Given the description of an element on the screen output the (x, y) to click on. 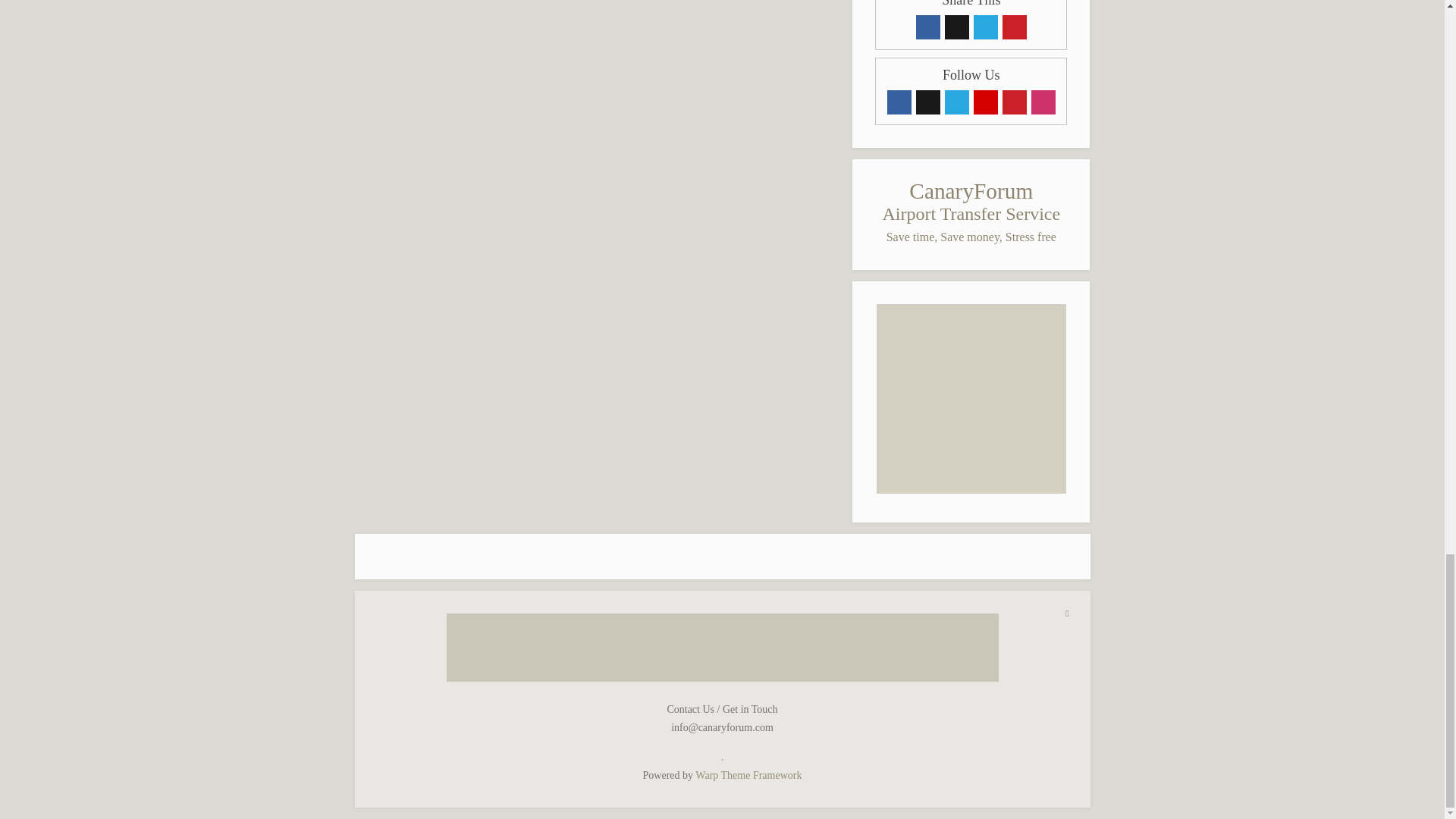
Follow us on Pinterest (1014, 102)
Follow us on Instagram (1042, 102)
Share on Google (956, 27)
Follow us on Facebook (898, 102)
Share on Twitter (985, 27)
Follow us on Twitter (956, 102)
Share on Facebook (927, 27)
Contact Us (985, 102)
Share on Pinterest (1014, 27)
